Given the description of an element on the screen output the (x, y) to click on. 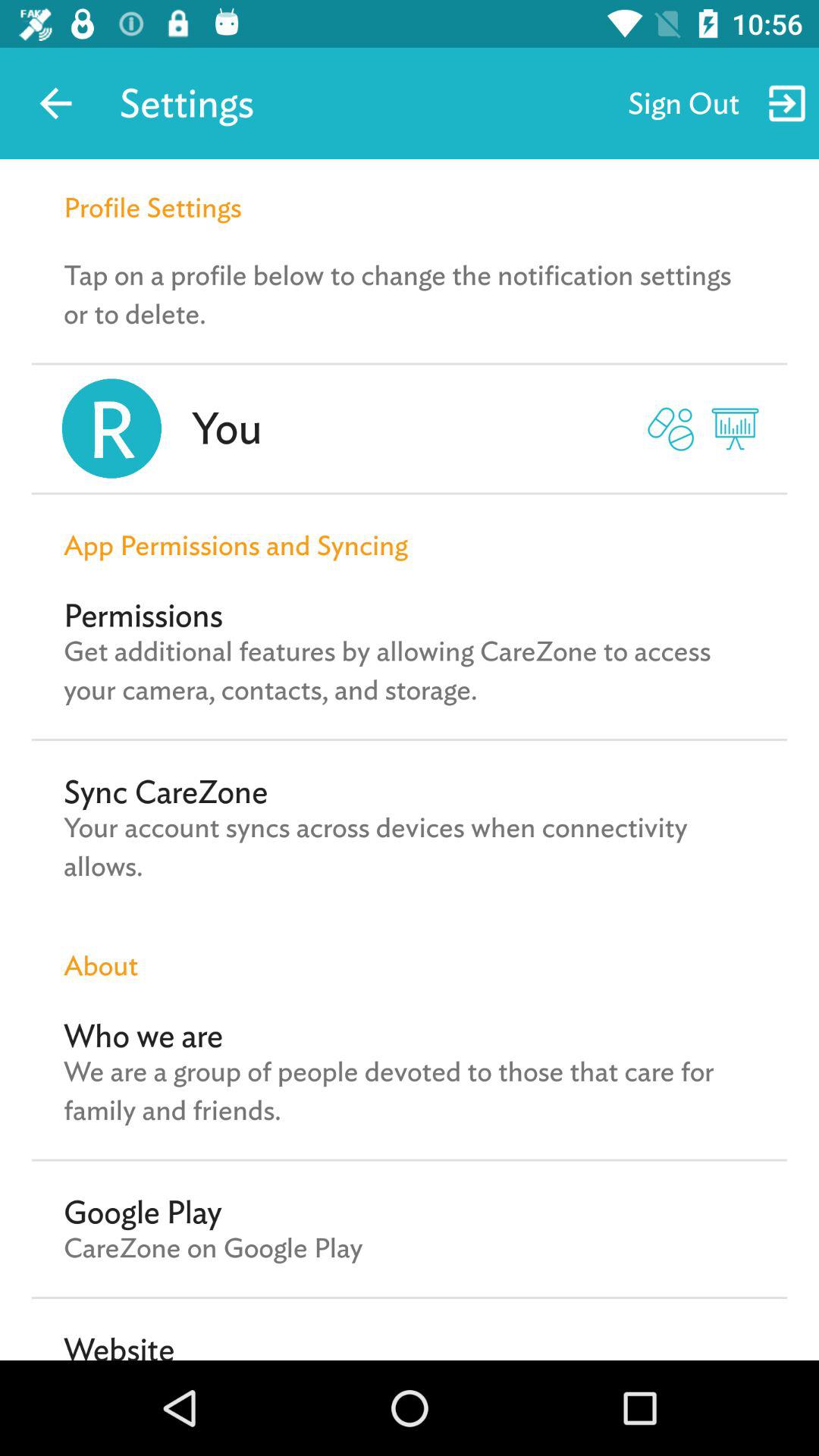
jump to the get additional features icon (409, 670)
